Given the description of an element on the screen output the (x, y) to click on. 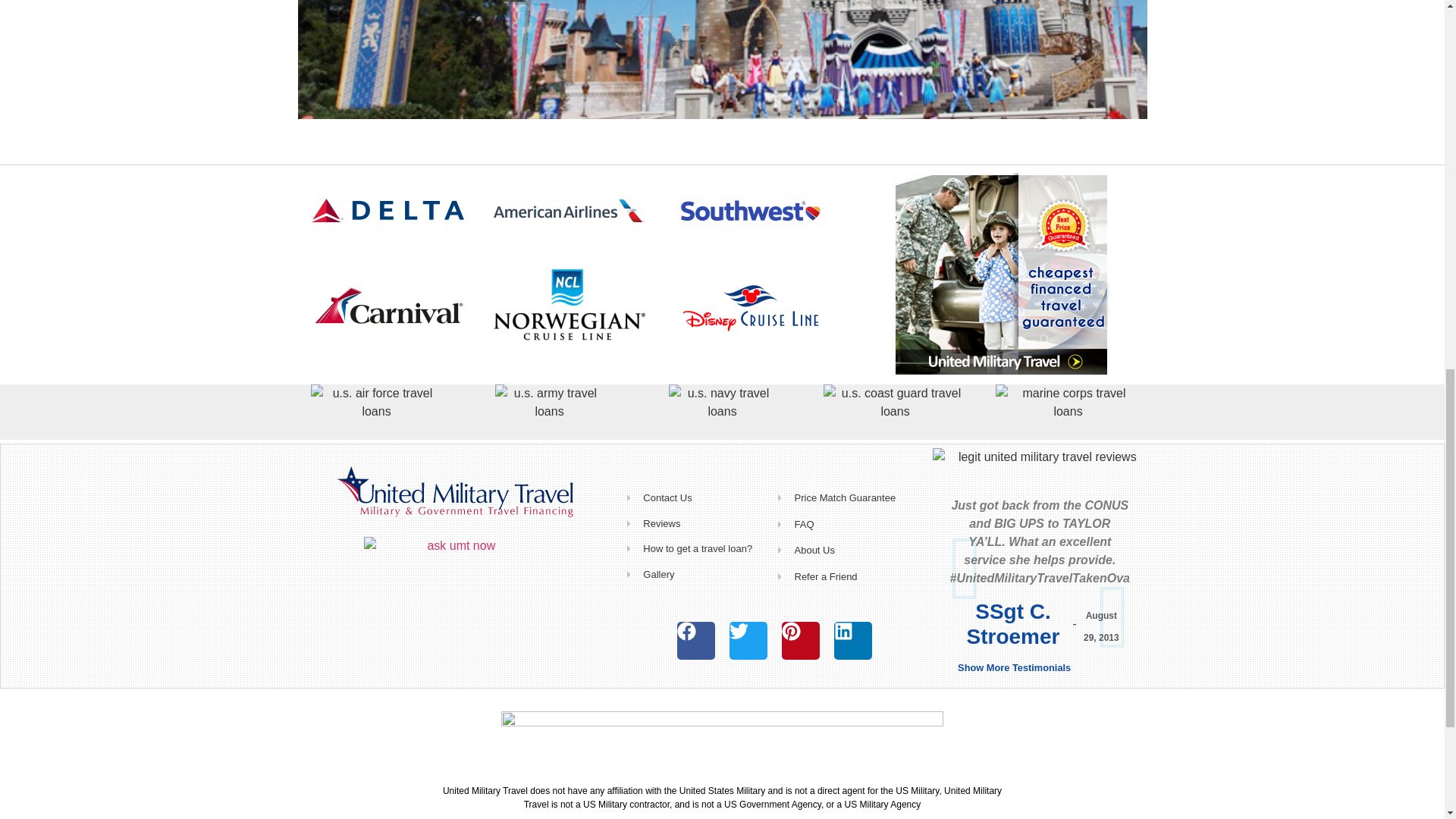
How to get a travel loan? (699, 548)
Gallery (699, 574)
Reviews (699, 523)
Price Match Guarantee (849, 498)
Contact Us (699, 498)
FAQ (849, 524)
